Given the description of an element on the screen output the (x, y) to click on. 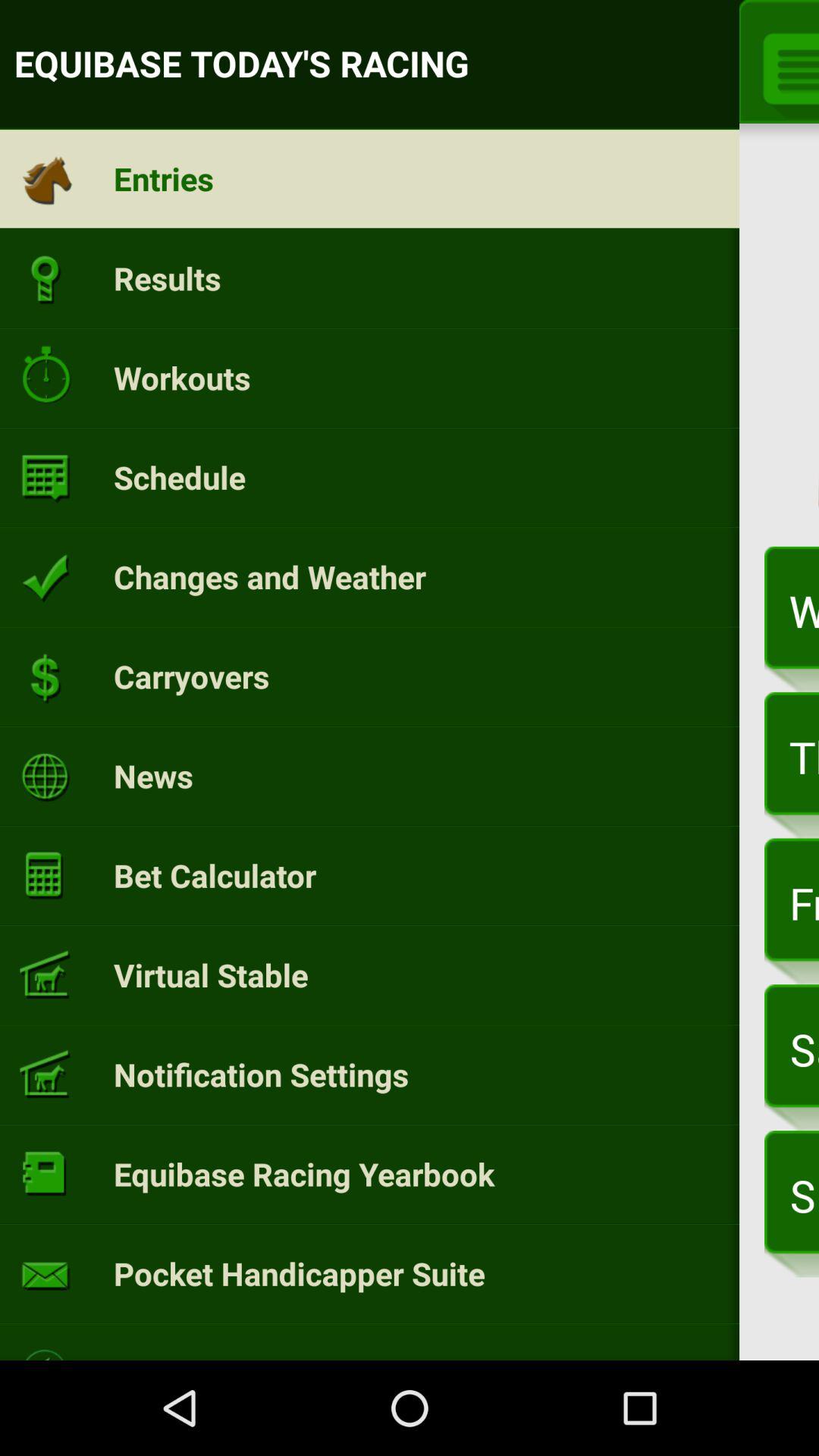
turn on item next to the thursday, mar 30 item (153, 775)
